Given the description of an element on the screen output the (x, y) to click on. 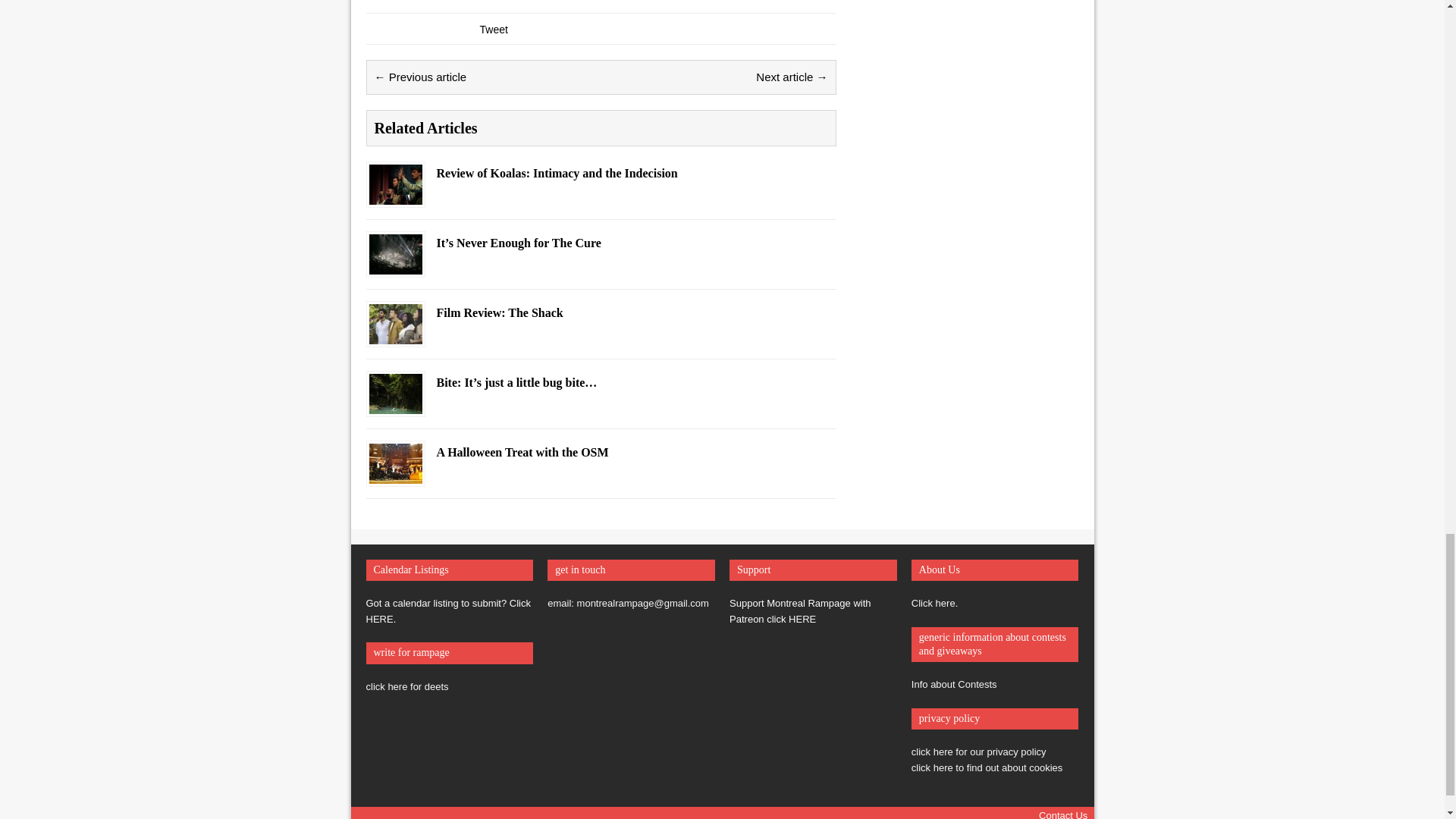
A Halloween Treat with the OSM (395, 474)
Tweet (492, 29)
Review of Koalas: Intimacy and the Indecision (395, 195)
Film Review: The Shack (395, 335)
